Given the description of an element on the screen output the (x, y) to click on. 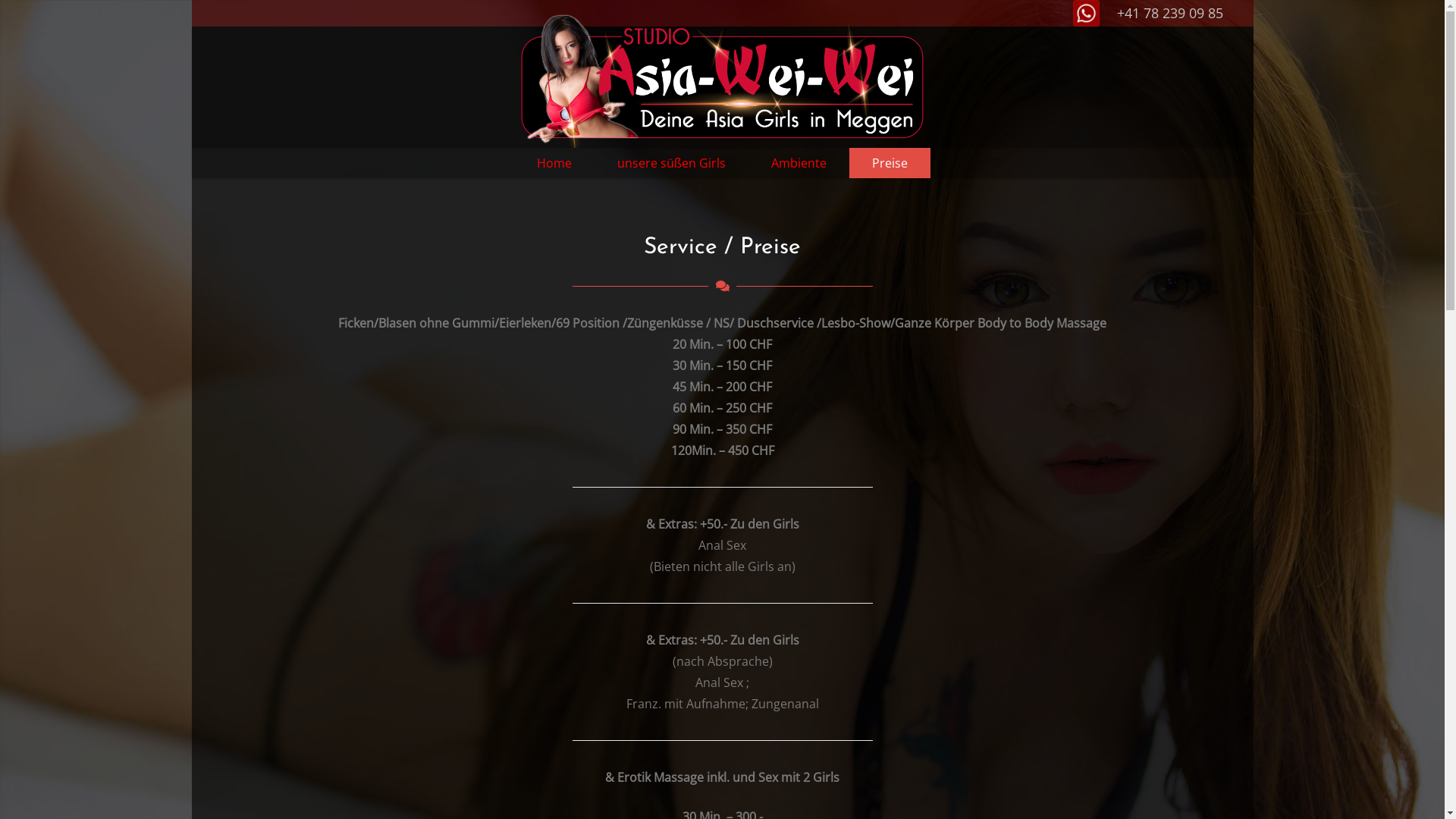
Home Element type: text (554, 162)
Ambiente Element type: text (798, 162)
Preise Element type: text (889, 162)
+41 78 239 09 85 Element type: text (1169, 12)
